Given the description of an element on the screen output the (x, y) to click on. 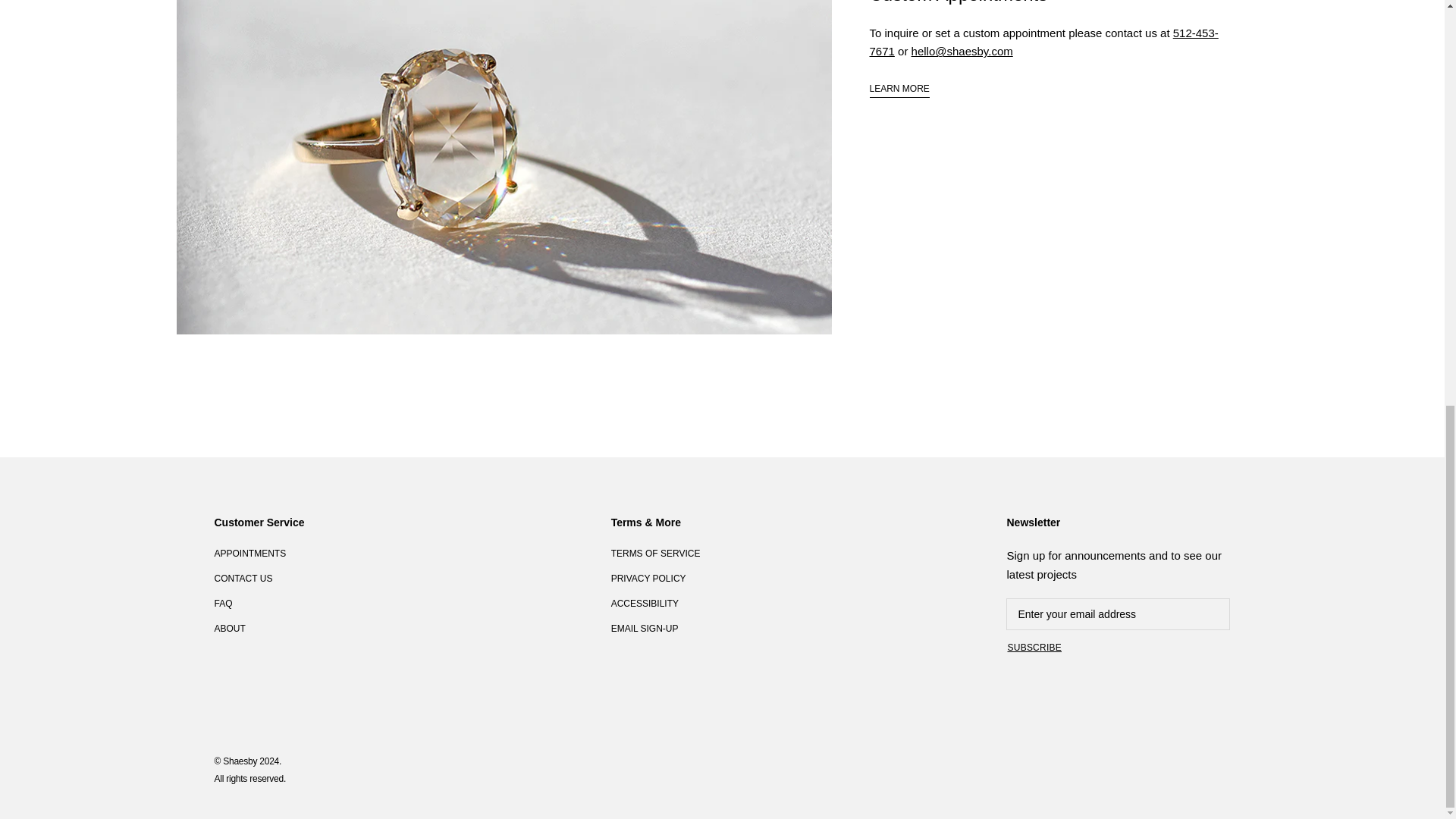
512-453-7671 (1043, 42)
CONTACT US (259, 578)
ACCESSIBILITY (655, 603)
TERMS OF SERVICE (655, 553)
LEARN MORE (898, 89)
EMAIL SIGN-UP (655, 628)
APPOINTMENTS (259, 553)
SUBSCRIBE (1034, 647)
PRIVACY POLICY (655, 578)
FAQ (259, 603)
